Given the description of an element on the screen output the (x, y) to click on. 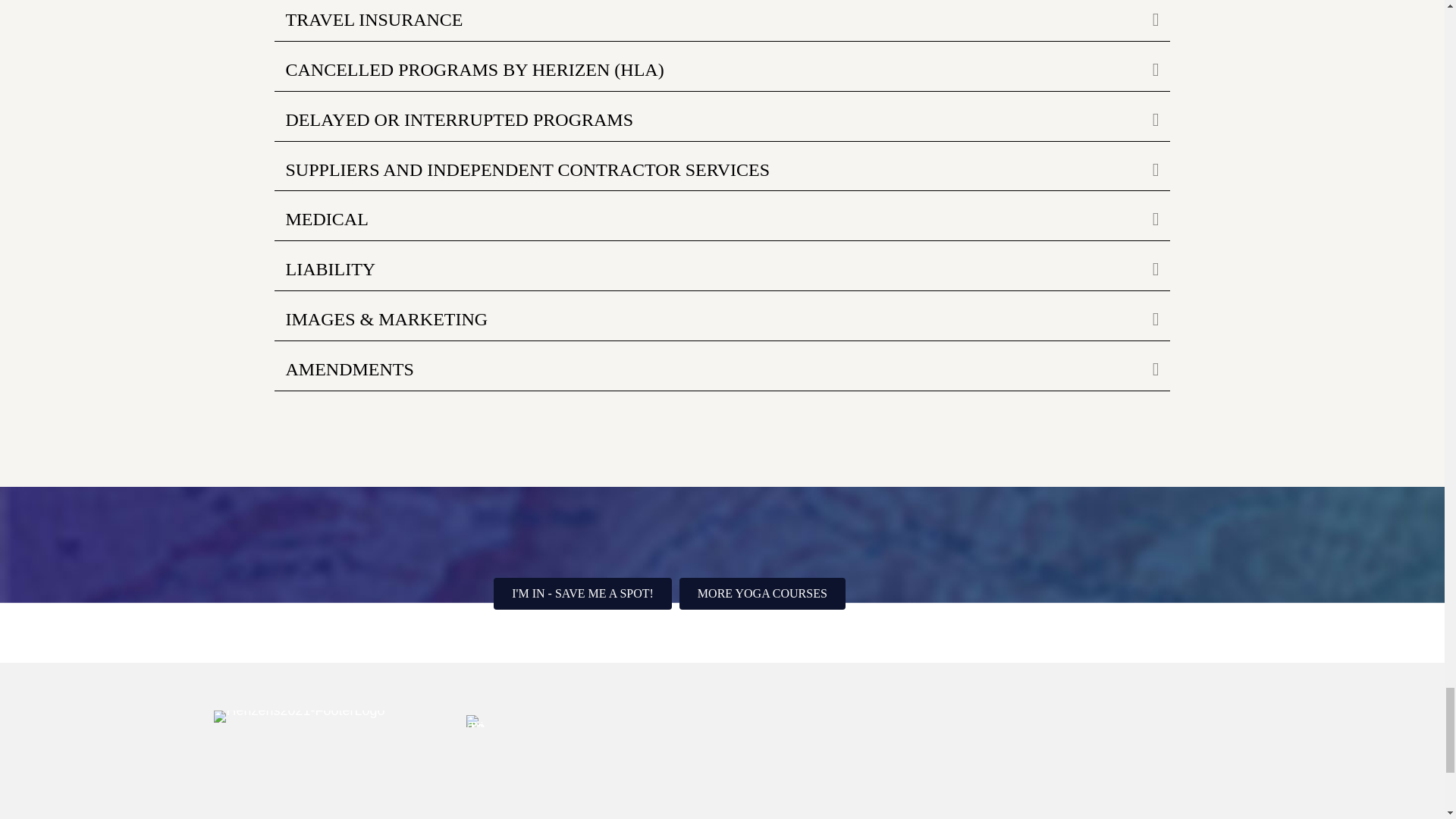
Herizens2021-FooterLogo (299, 716)
Expand (1143, 19)
Triangle (474, 720)
DELAYED OR INTERRUPTED PROGRAMS (707, 120)
TRAVEL INSURANCE (707, 19)
Expand (1143, 69)
